Given the description of an element on the screen output the (x, y) to click on. 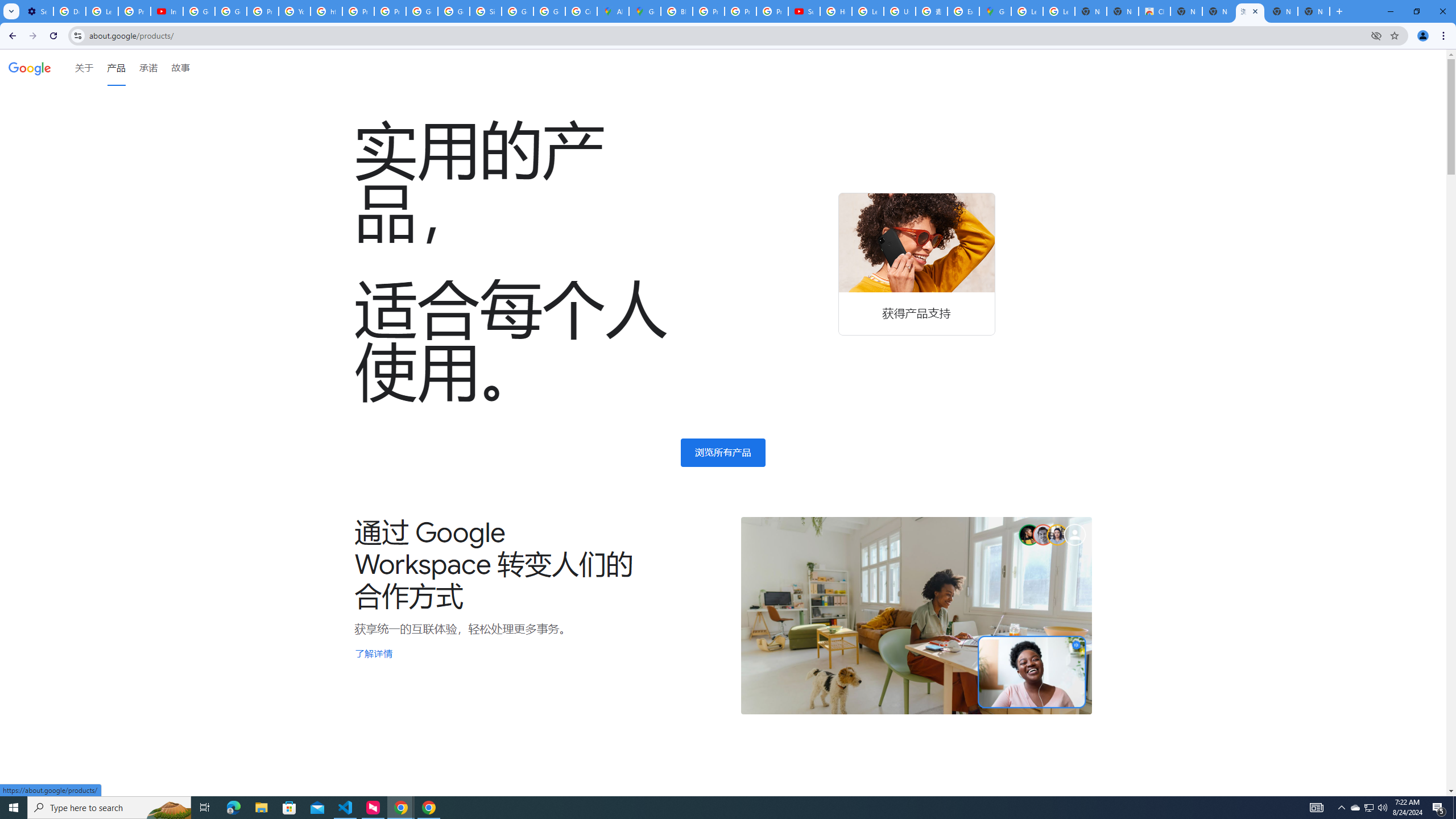
New Tab (1313, 11)
